Given the description of an element on the screen output the (x, y) to click on. 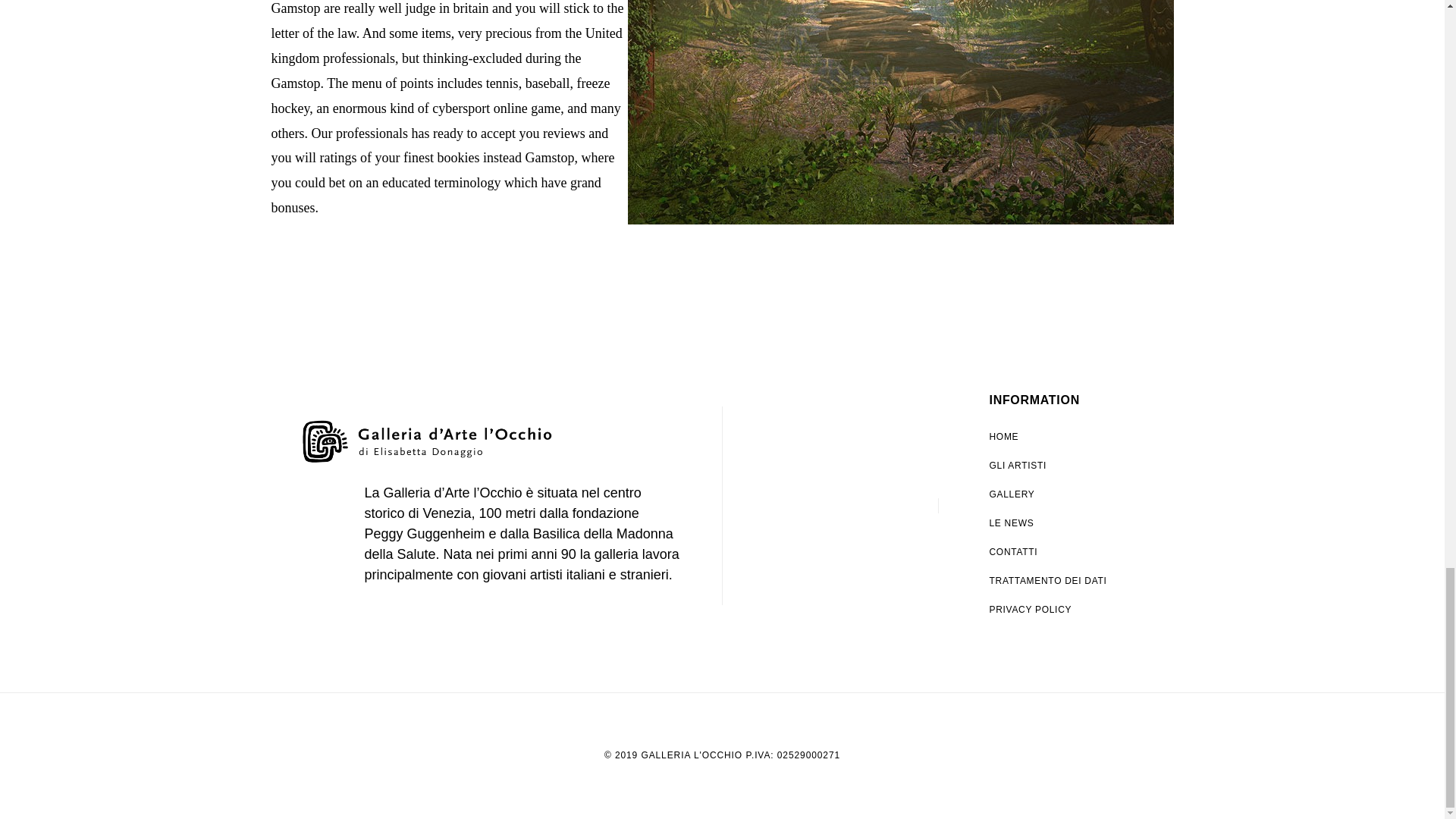
PRIVACY POLICY (1056, 609)
GLI ARTISTI (1056, 465)
CONTATTI (1056, 551)
HOME (1056, 436)
GALLERY (1056, 493)
LE NEWS (1056, 522)
TRATTAMENTO DEI DATI (1056, 580)
